Given the description of an element on the screen output the (x, y) to click on. 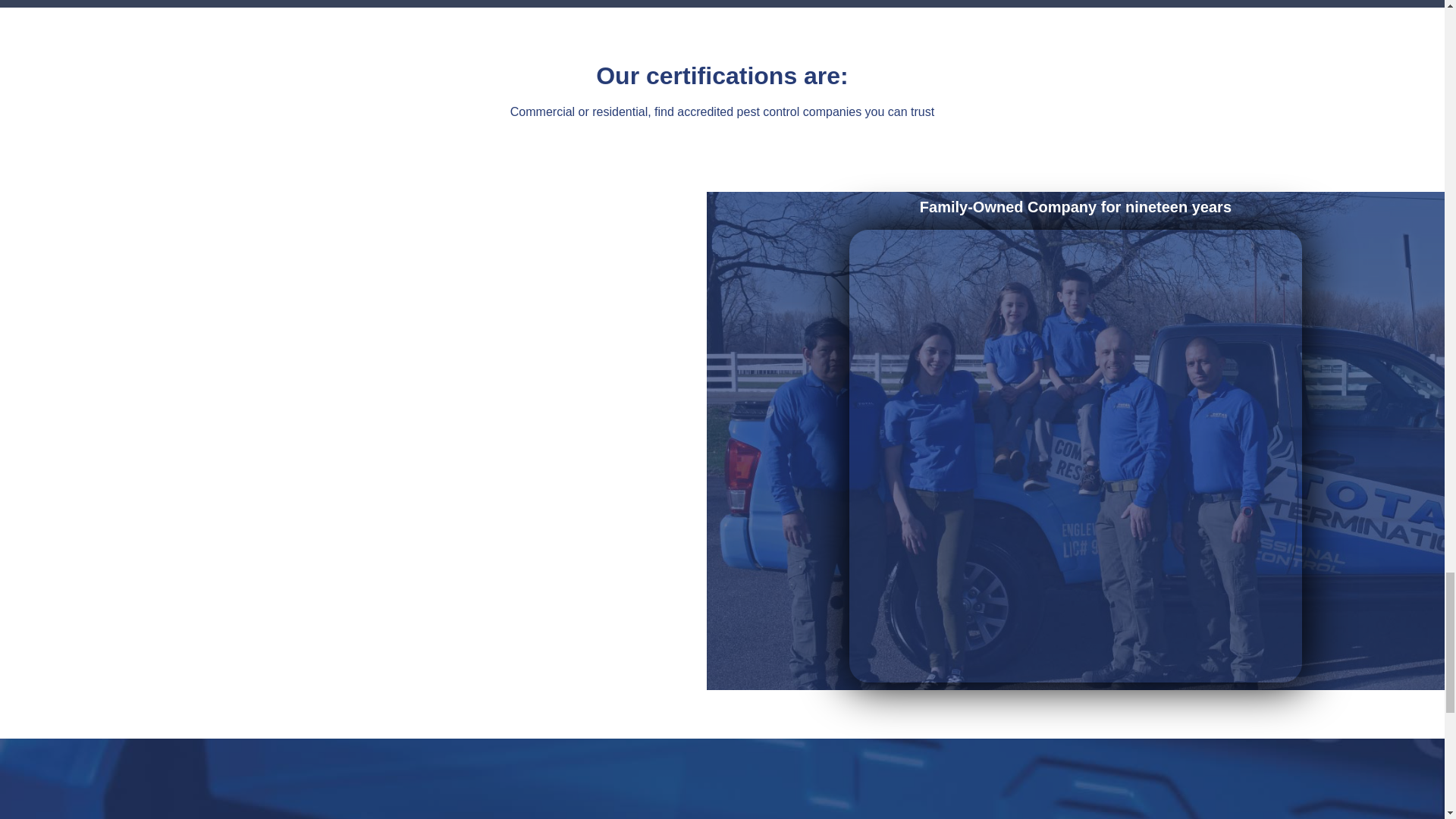
144 W Ivy Ln, Englewood, NJ 07631, Estados Unidos (924, 794)
